Given the description of an element on the screen output the (x, y) to click on. 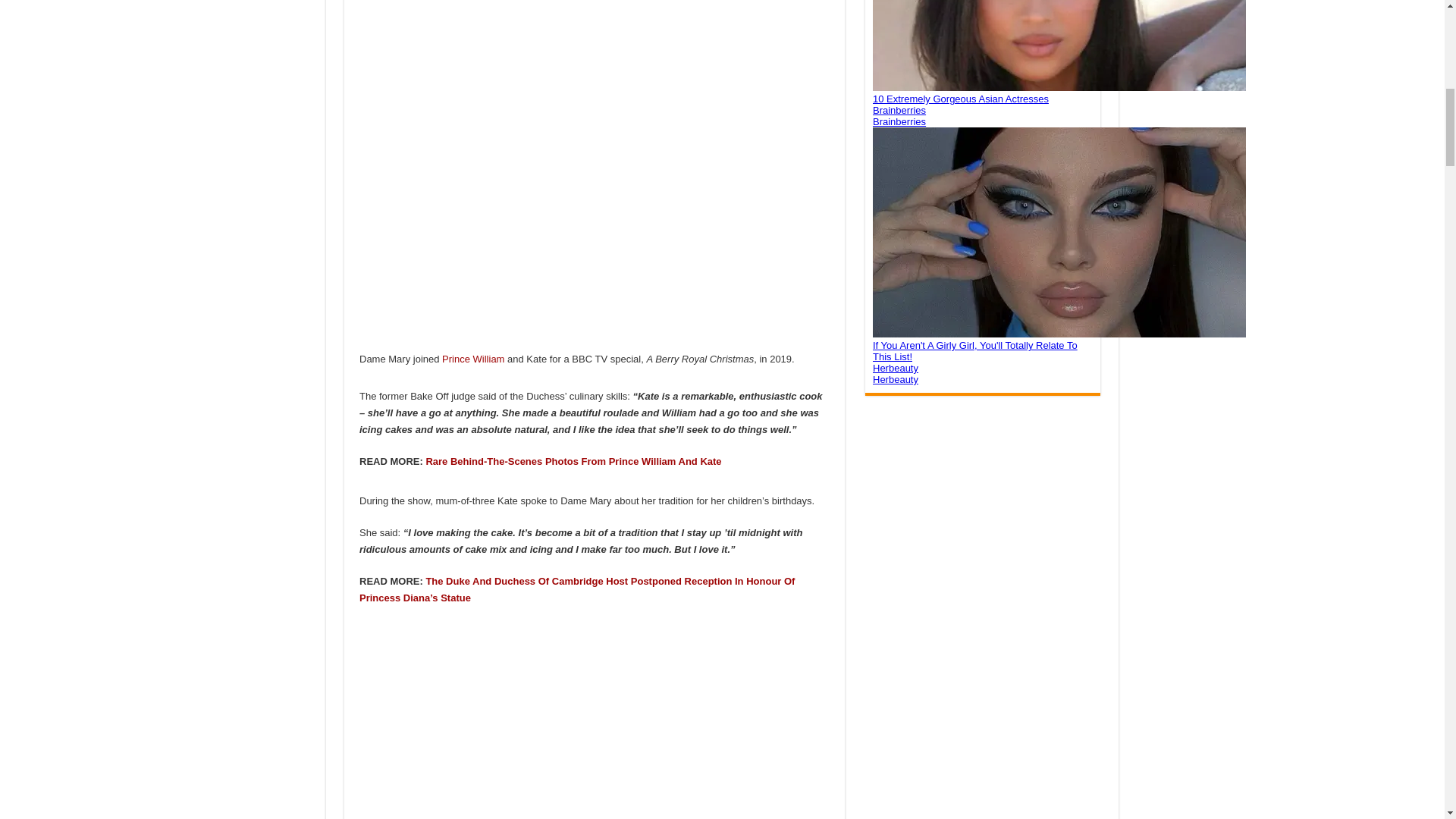
Rare Behind-The-Scenes Photos From Prince William And Kate (572, 460)
Prince William (472, 358)
